Given the description of an element on the screen output the (x, y) to click on. 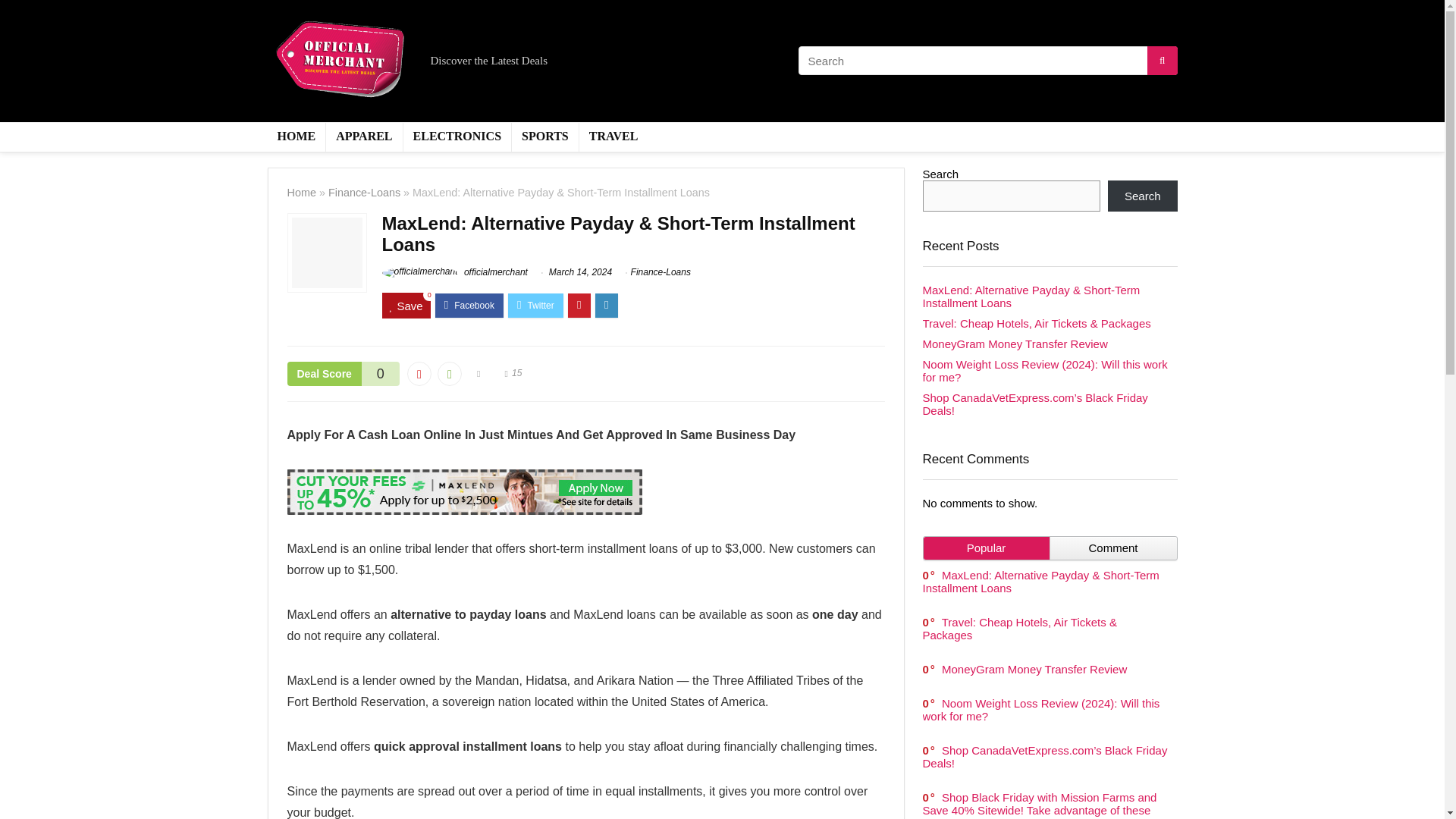
Home (300, 192)
View all posts in Finance-Loans (660, 271)
TRAVEL (613, 136)
Finance-Loans (364, 192)
Vote down (418, 373)
officialmerchant (454, 271)
ELECTRONICS (457, 136)
HOME (295, 136)
MoneyGram Money Transfer Review (1034, 668)
APPAREL (363, 136)
Finance-Loans (660, 271)
Search (1142, 195)
SPORTS (545, 136)
MoneyGram Money Transfer Review (1013, 343)
Vote up (449, 373)
